Given the description of an element on the screen output the (x, y) to click on. 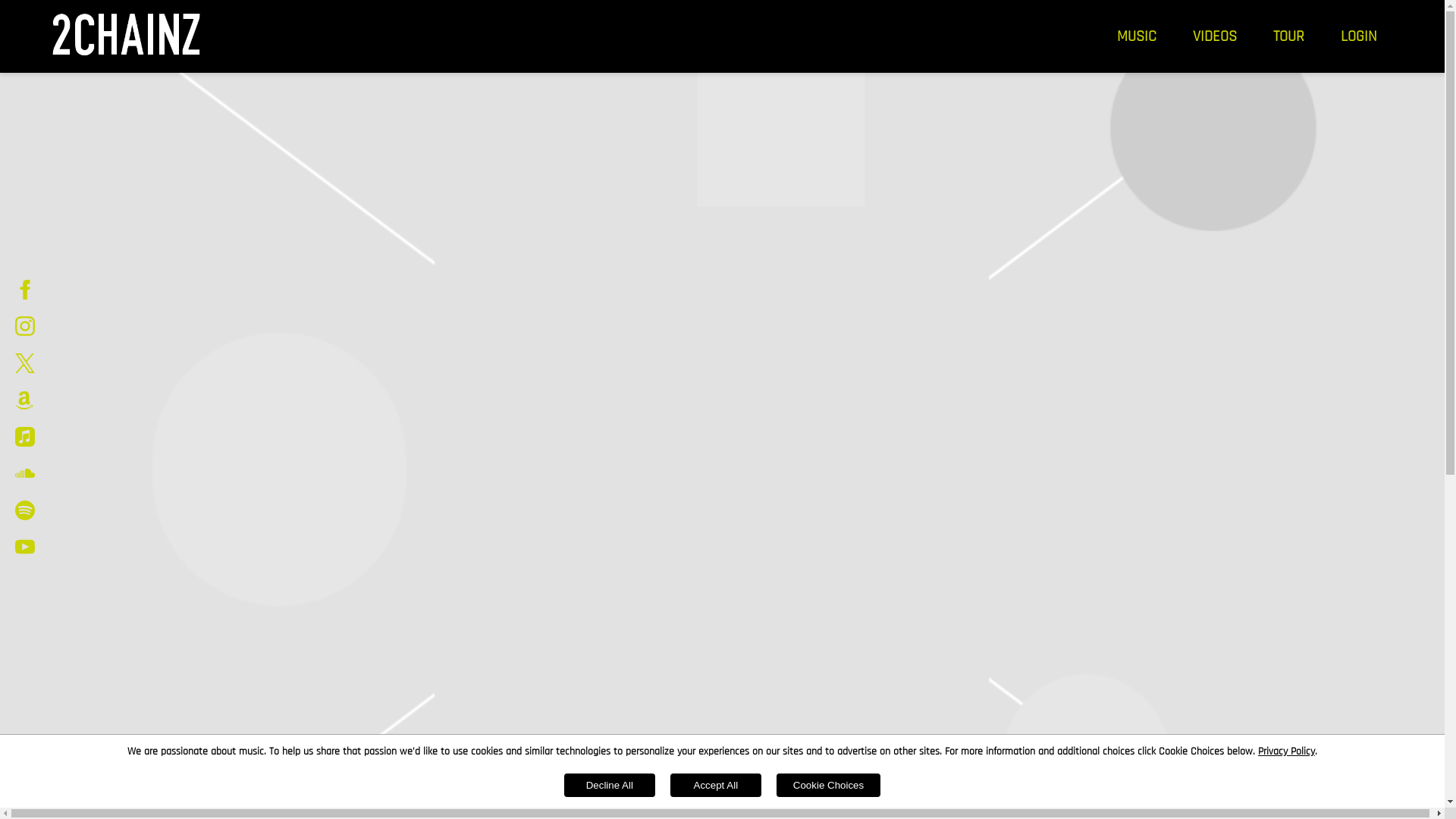
Decline All Element type: text (609, 785)
MUSIC Element type: text (1136, 36)
VIDEOS Element type: text (1214, 36)
Privacy Policy Element type: text (1286, 751)
LOGIN Element type: text (1358, 36)
Accept All Element type: text (715, 785)
TOUR Element type: text (1288, 36)
2 CHAINZ Element type: text (126, 36)
Cookie Choices Element type: text (828, 785)
